Given the description of an element on the screen output the (x, y) to click on. 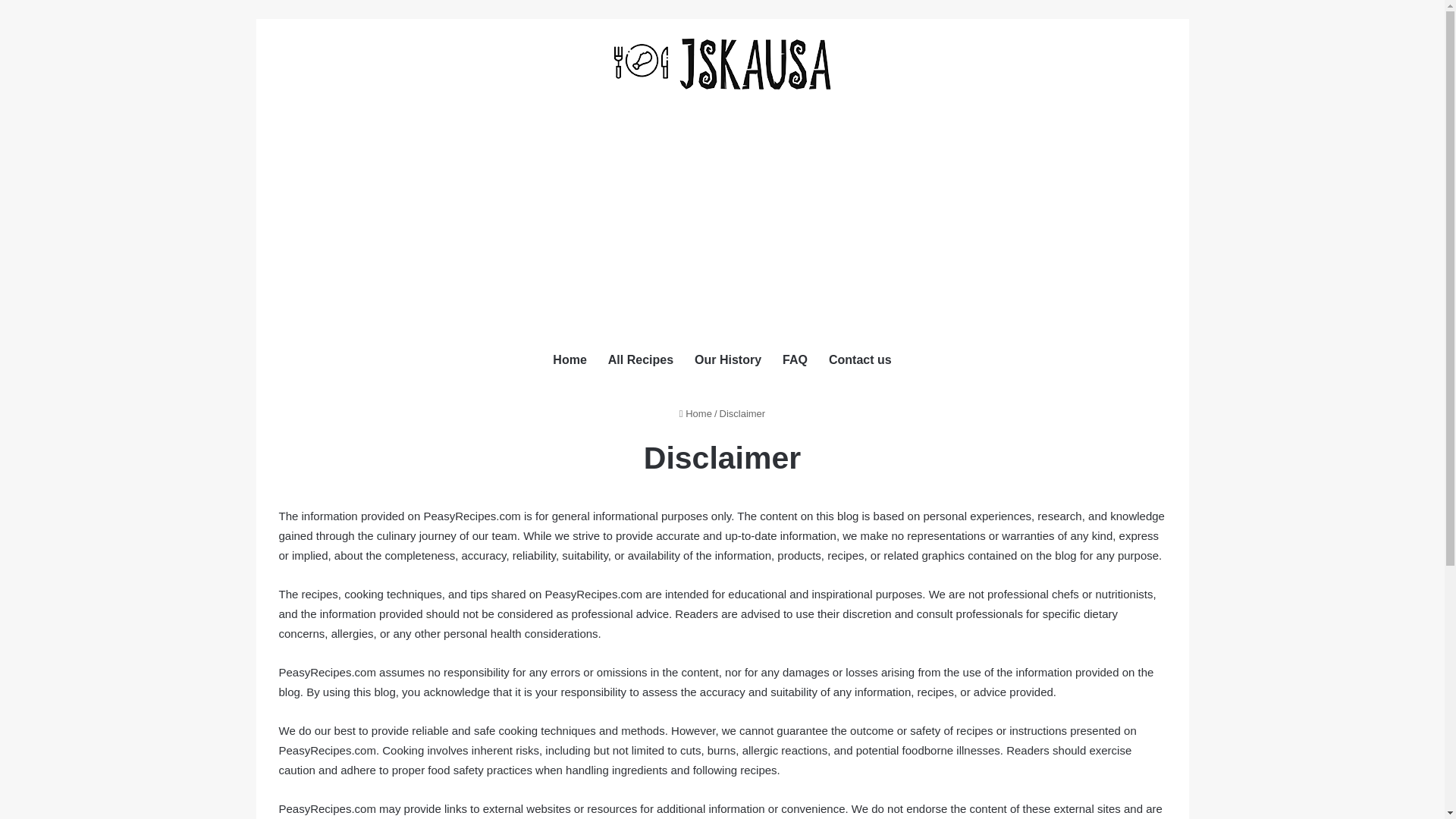
Our History (727, 360)
Contact us (860, 360)
FAQ (794, 360)
Home (695, 413)
Home (568, 360)
All Recipes (640, 360)
 JSKAUSA (721, 64)
